Given the description of an element on the screen output the (x, y) to click on. 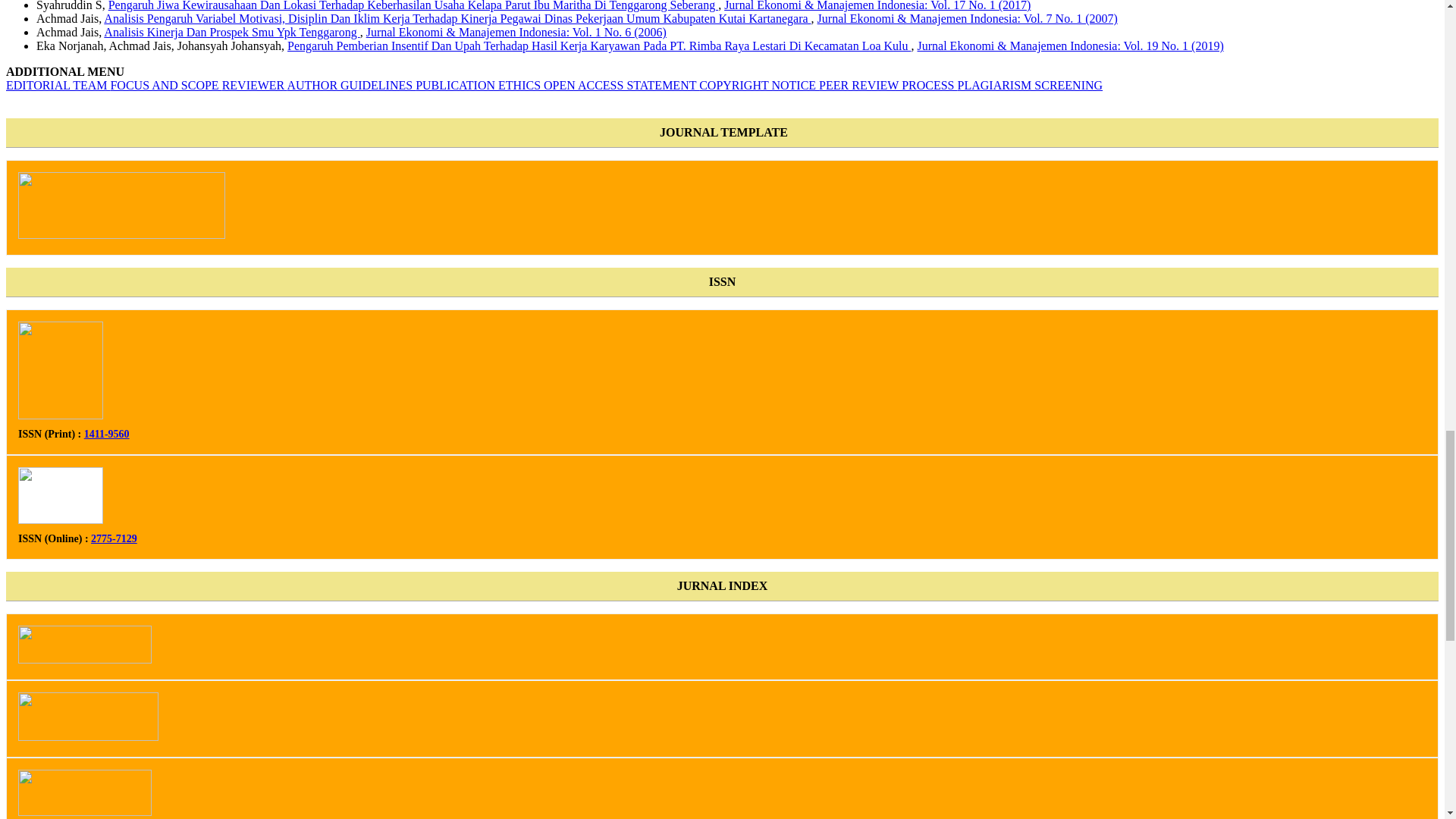
Tamplate Jurnal JEMI UNIKARTA (121, 233)
PUBLICATION ETHICS (478, 84)
EDITORIAL TEAM (57, 84)
issn (84, 811)
AUTHOR GUIDELINES (350, 84)
Fokus And Scope (165, 84)
PLAGIARISM SCREENING (1030, 84)
COPYRIGHT NOTICE (758, 84)
PEER REVIEW PROCESS (887, 84)
REVIEWER (254, 84)
OPEN ACCESS STATEMENT (620, 84)
